Given the description of an element on the screen output the (x, y) to click on. 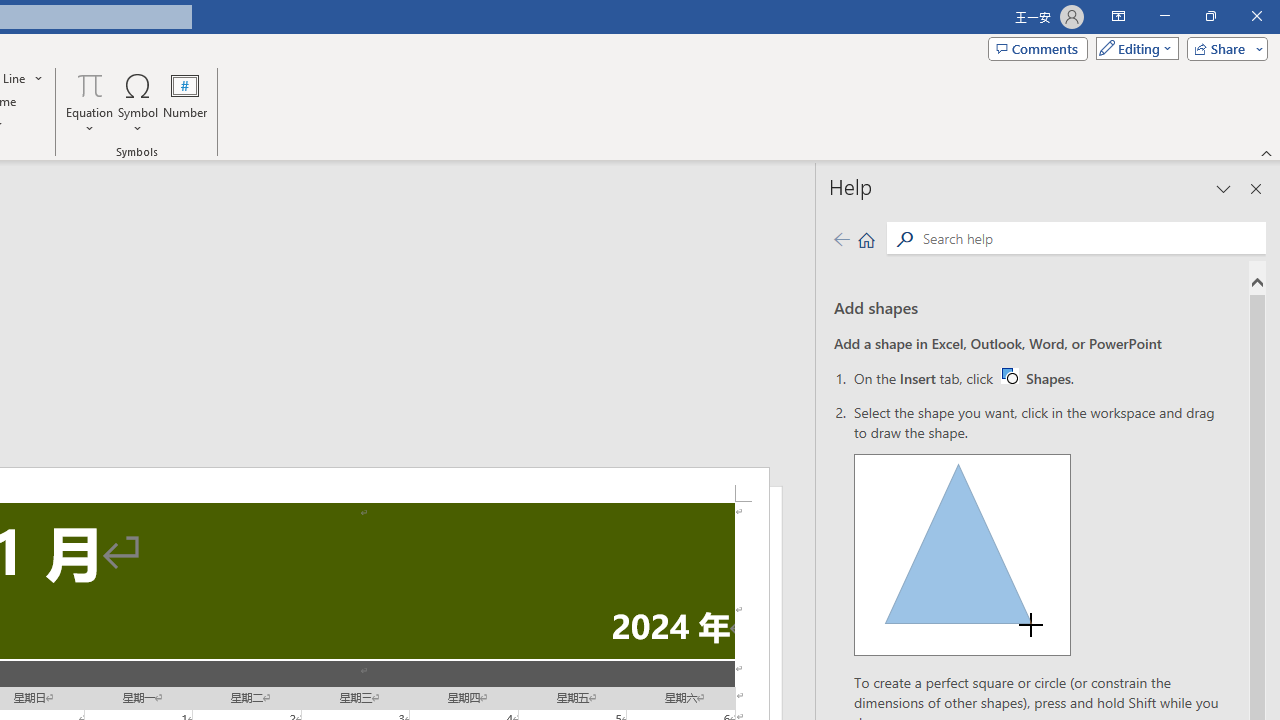
Equation (90, 102)
Number... (185, 102)
Word W32 Shapes button icon (1009, 375)
